Given the description of an element on the screen output the (x, y) to click on. 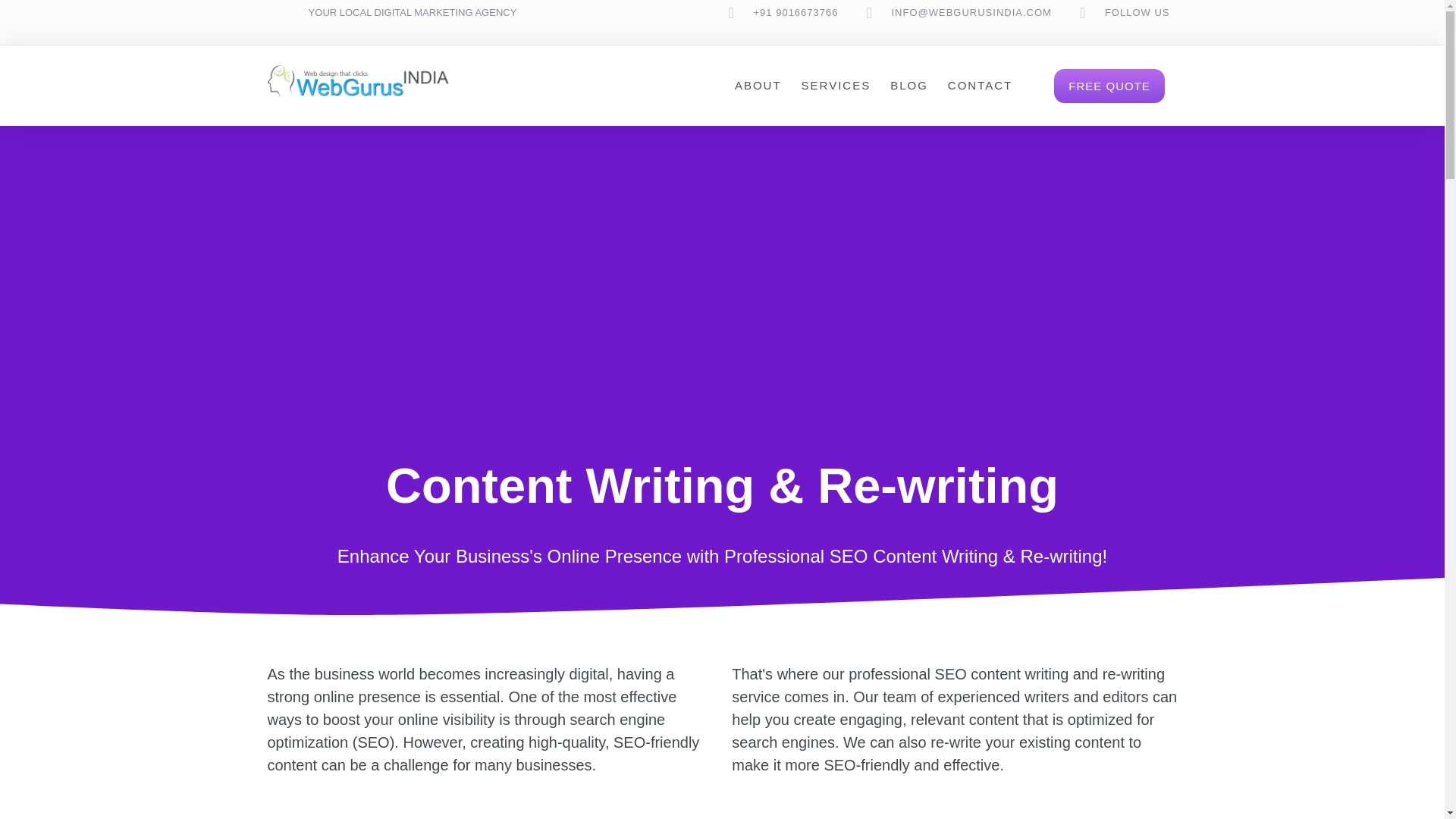
ABOUT (758, 85)
SERVICES (836, 85)
FOLLOW US (1137, 11)
